Given the description of an element on the screen output the (x, y) to click on. 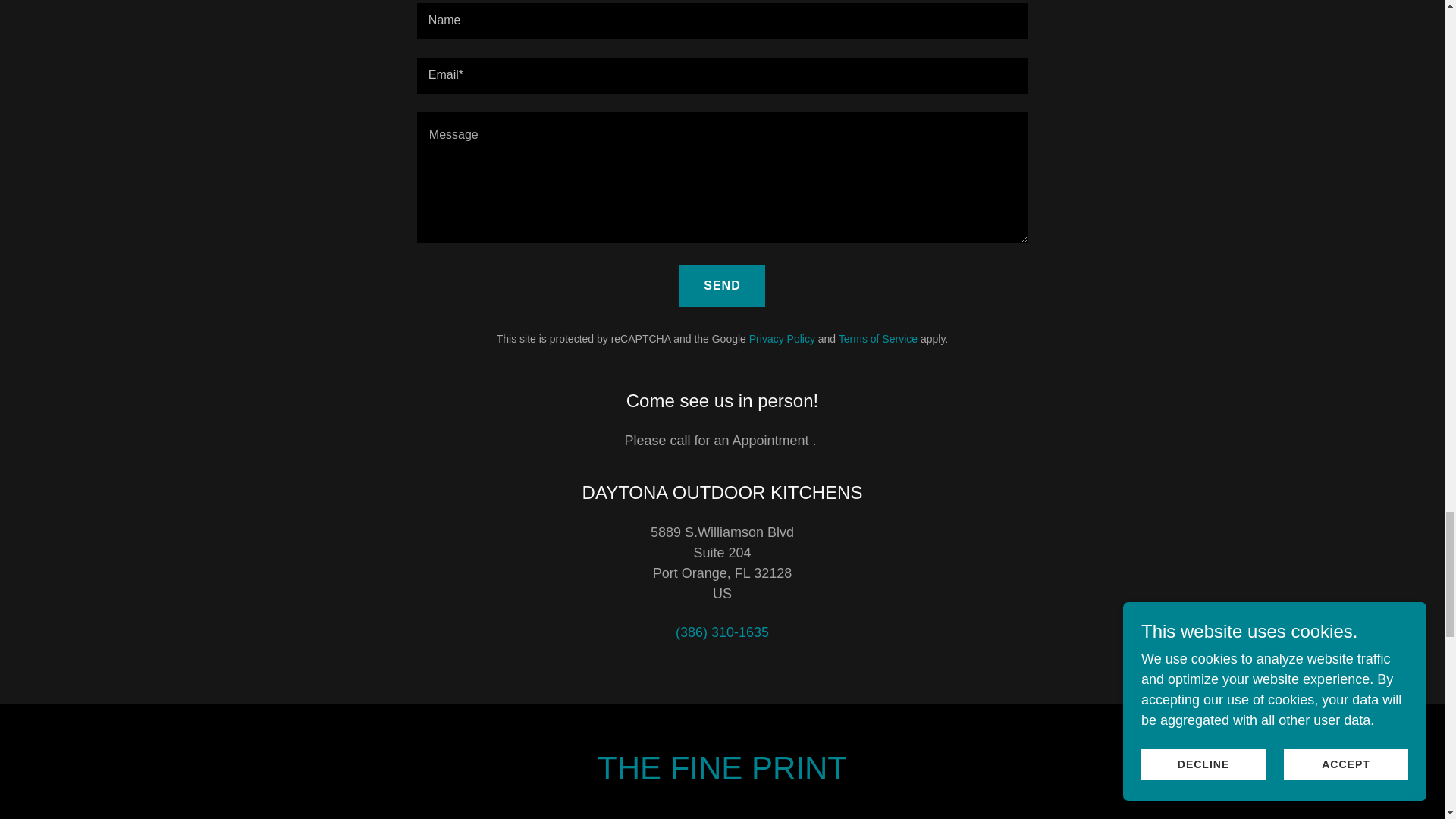
Privacy Policy (782, 338)
SEND (721, 285)
Terms of Service (877, 338)
